Given the description of an element on the screen output the (x, y) to click on. 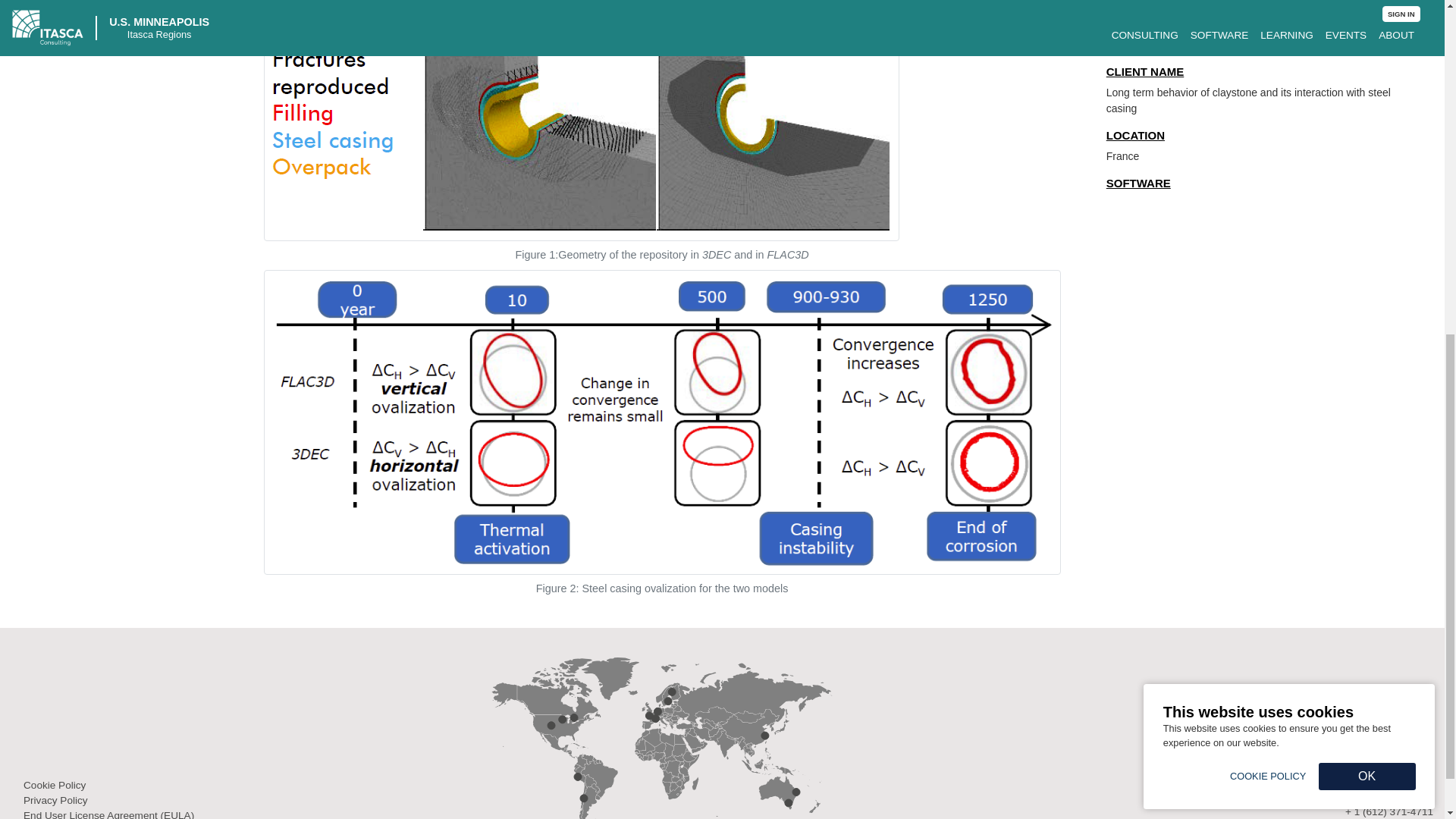
OK (1367, 180)
